Given the description of an element on the screen output the (x, y) to click on. 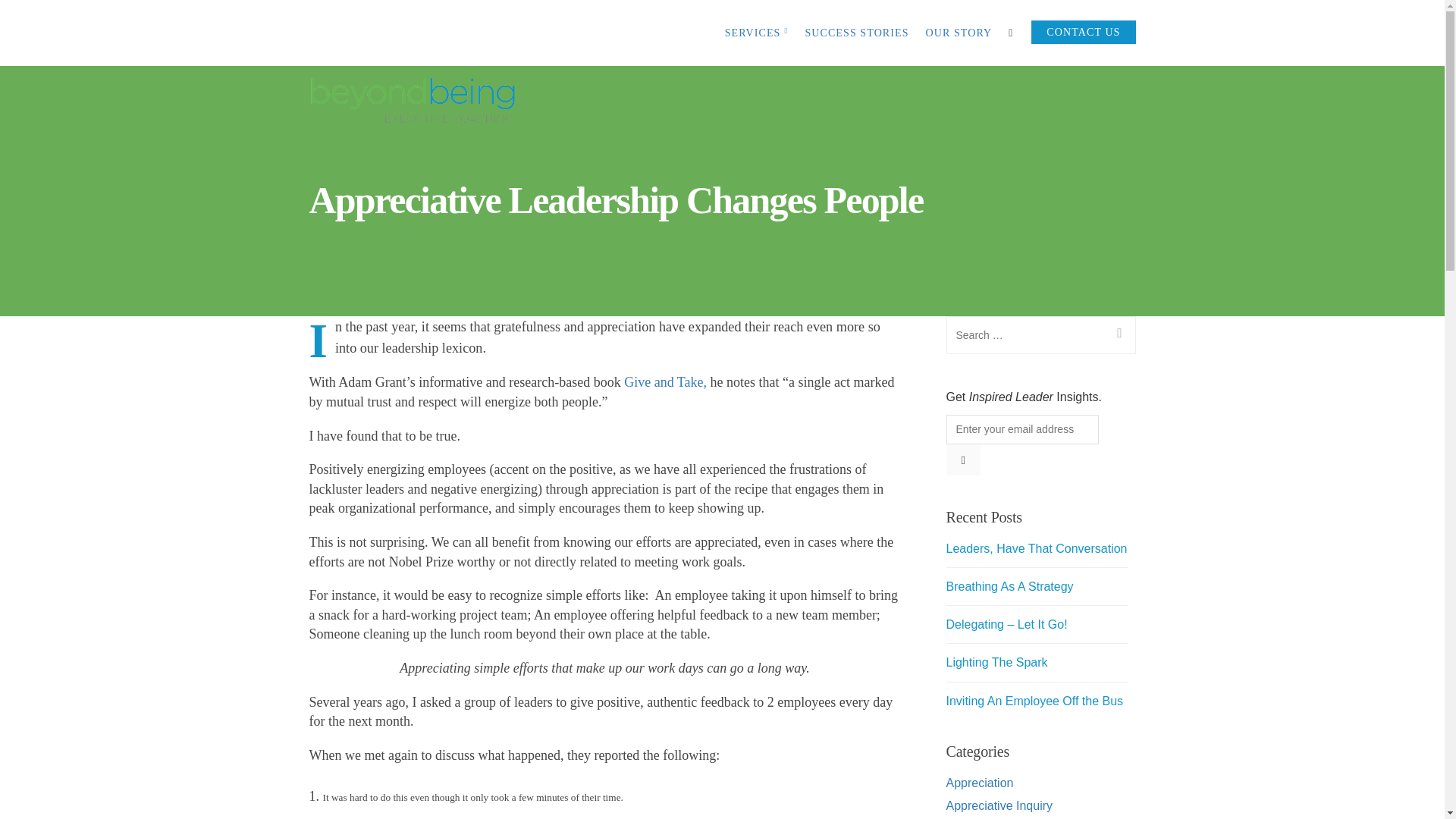
SUCCESS STORIES (856, 33)
SEARCH (1015, 34)
OUR STORY (957, 33)
Search (1117, 334)
Breathing As A Strategy (1010, 585)
Give and Take, (665, 381)
SERVICES (757, 33)
CONTACT US (1082, 33)
Leaders, Have That Conversation (1036, 548)
Search (1117, 334)
Search (18, 18)
Search (1117, 334)
